Given the description of an element on the screen output the (x, y) to click on. 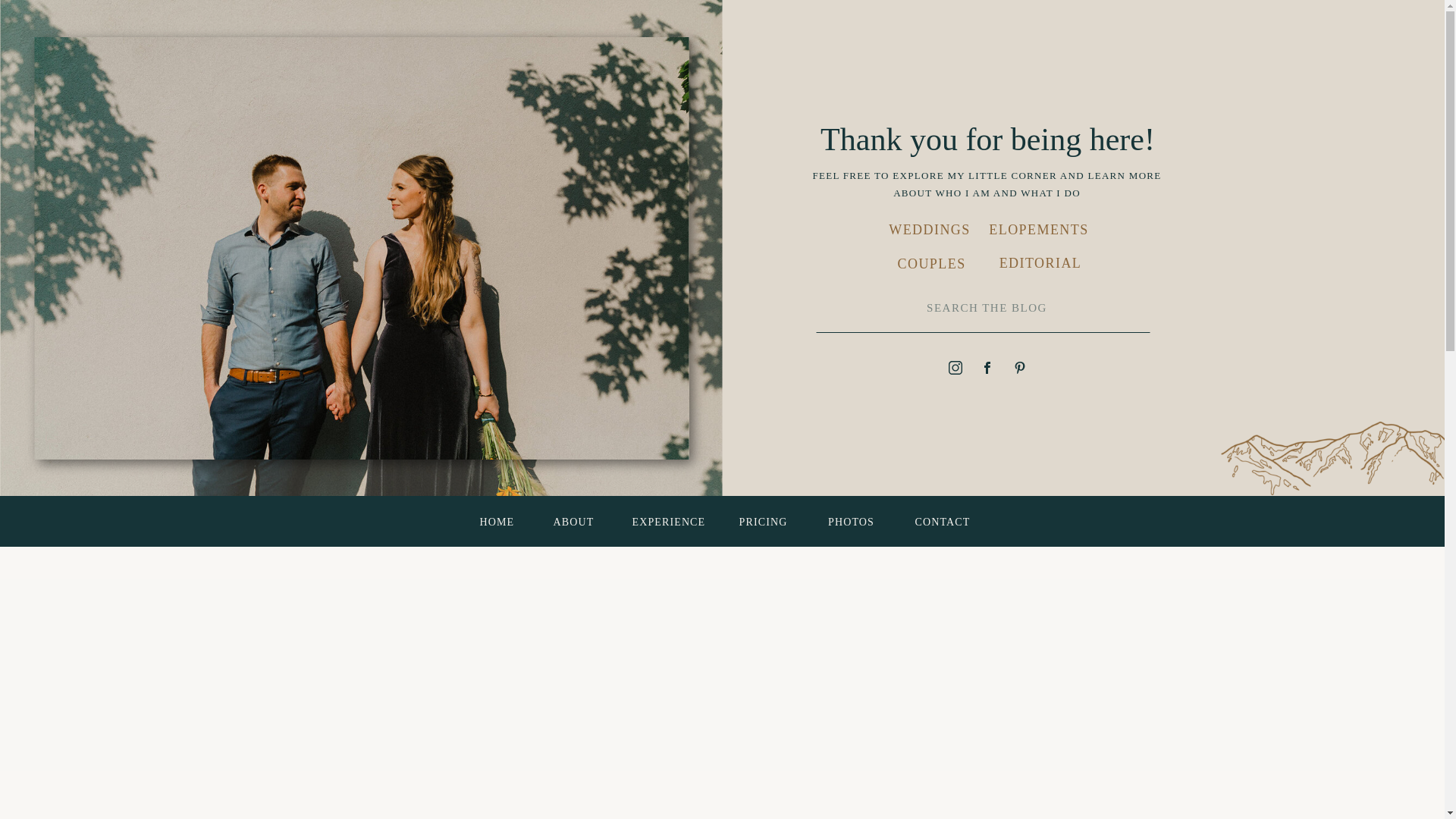
ELOPEMENTS (1038, 230)
COUPLES (931, 264)
WEDDINGS (929, 230)
EDITORIAL (1039, 263)
PRICING (762, 521)
EXPERIENCE (664, 521)
HOME (495, 521)
CONTACT (939, 521)
ABOUT (572, 521)
PHOTOS (851, 521)
